Given the description of an element on the screen output the (x, y) to click on. 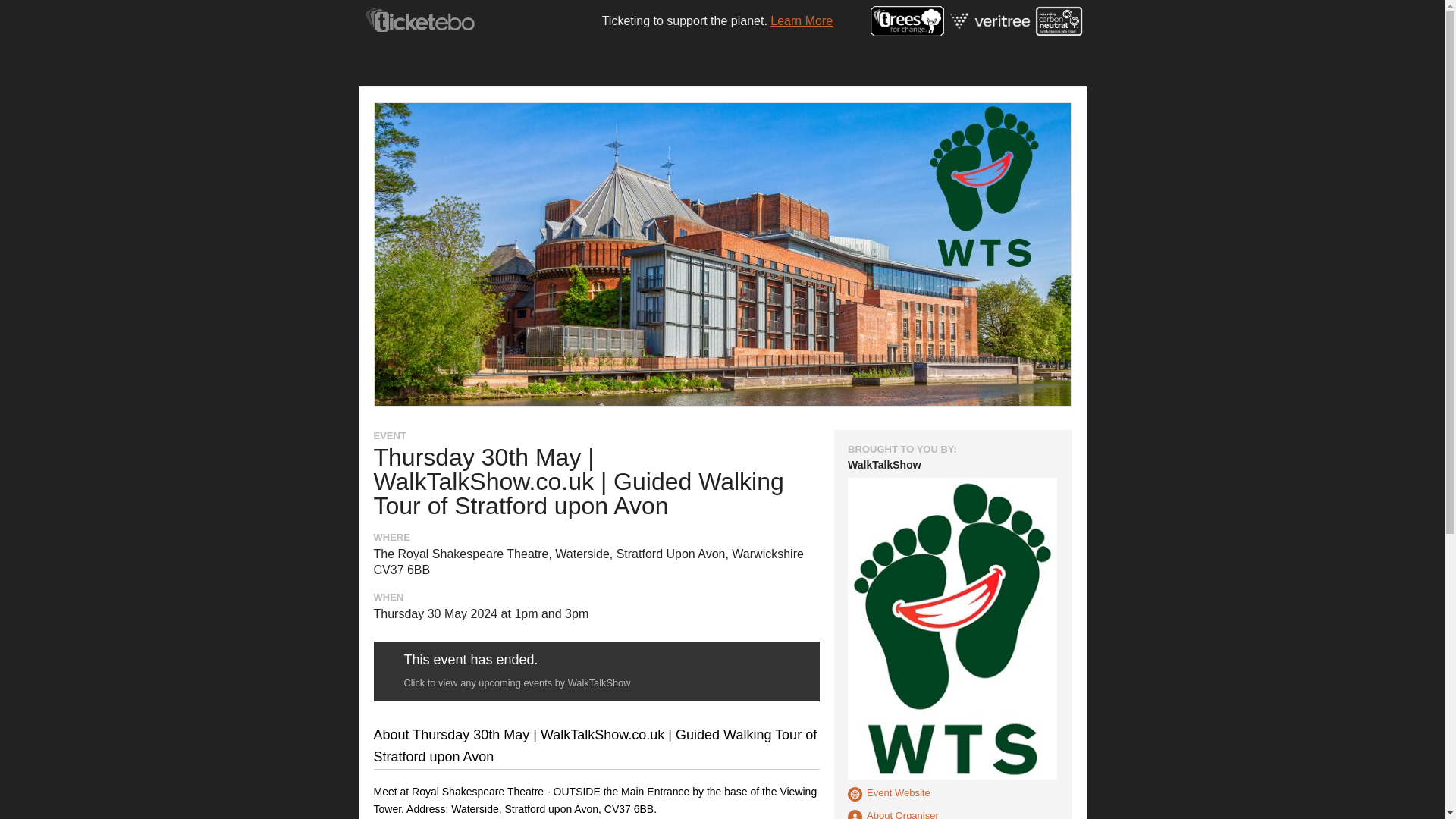
About Organiser (893, 814)
Go to Event website (888, 794)
Click to view any upcoming events by WalkTalkShow (516, 682)
Ticketebo (423, 9)
Learn More (801, 19)
WalkTalkShow (883, 464)
Empowering businesses with trusted climate solutions (991, 17)
Other events by this organiser (893, 814)
Event Website (888, 794)
Event organiser website (883, 464)
